Given the description of an element on the screen output the (x, y) to click on. 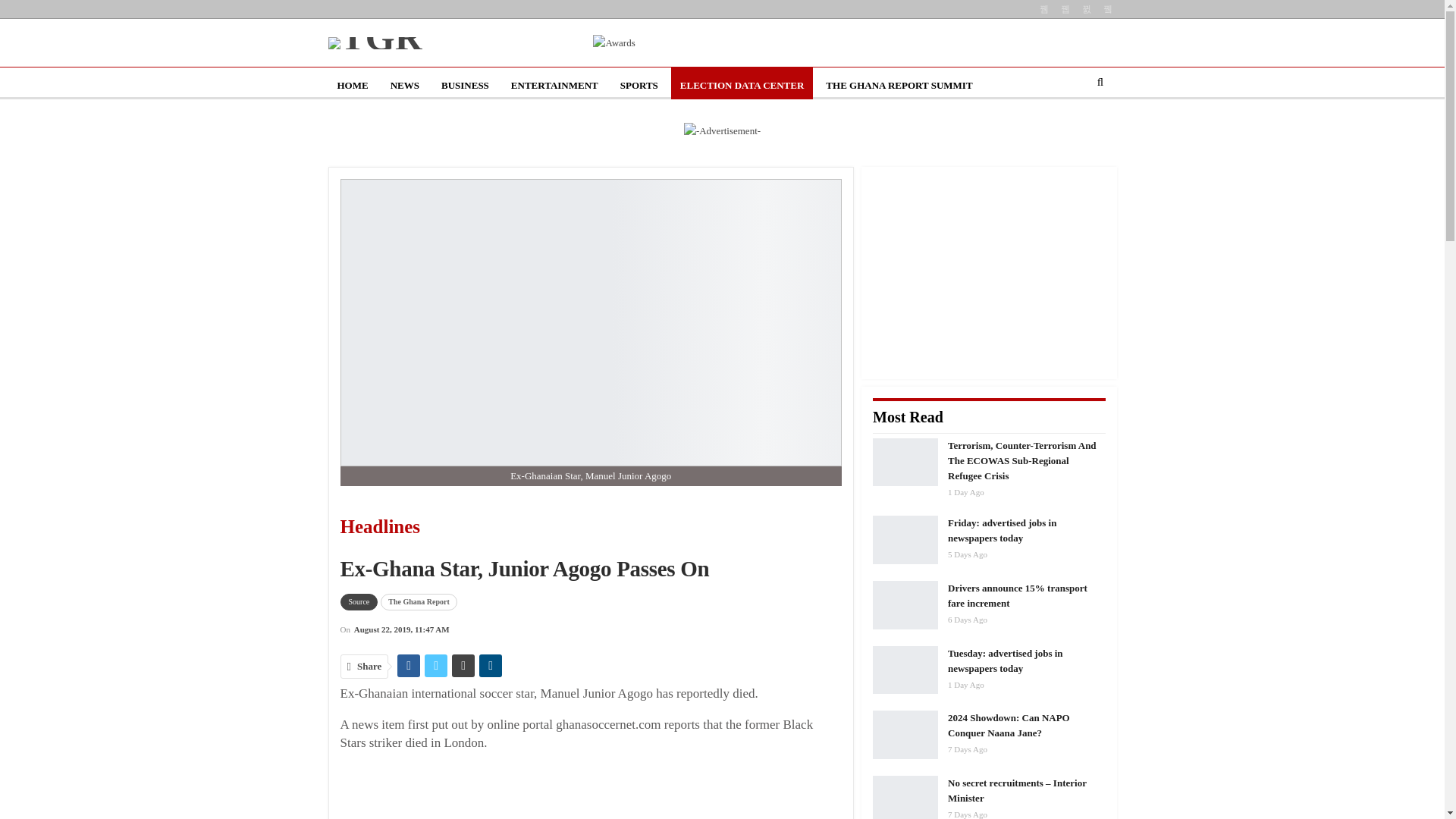
ELECTION DATA CENTER (742, 85)
HOME (352, 85)
NEWS (404, 85)
Headlines (453, 527)
THE GHANA REPORT SUMMIT (898, 85)
BUSINESS (464, 85)
SPORTS (638, 85)
Friday: advertised jobs in newspapers today (904, 539)
The Ghana Report (418, 601)
ENTERTAINMENT (554, 85)
